Given the description of an element on the screen output the (x, y) to click on. 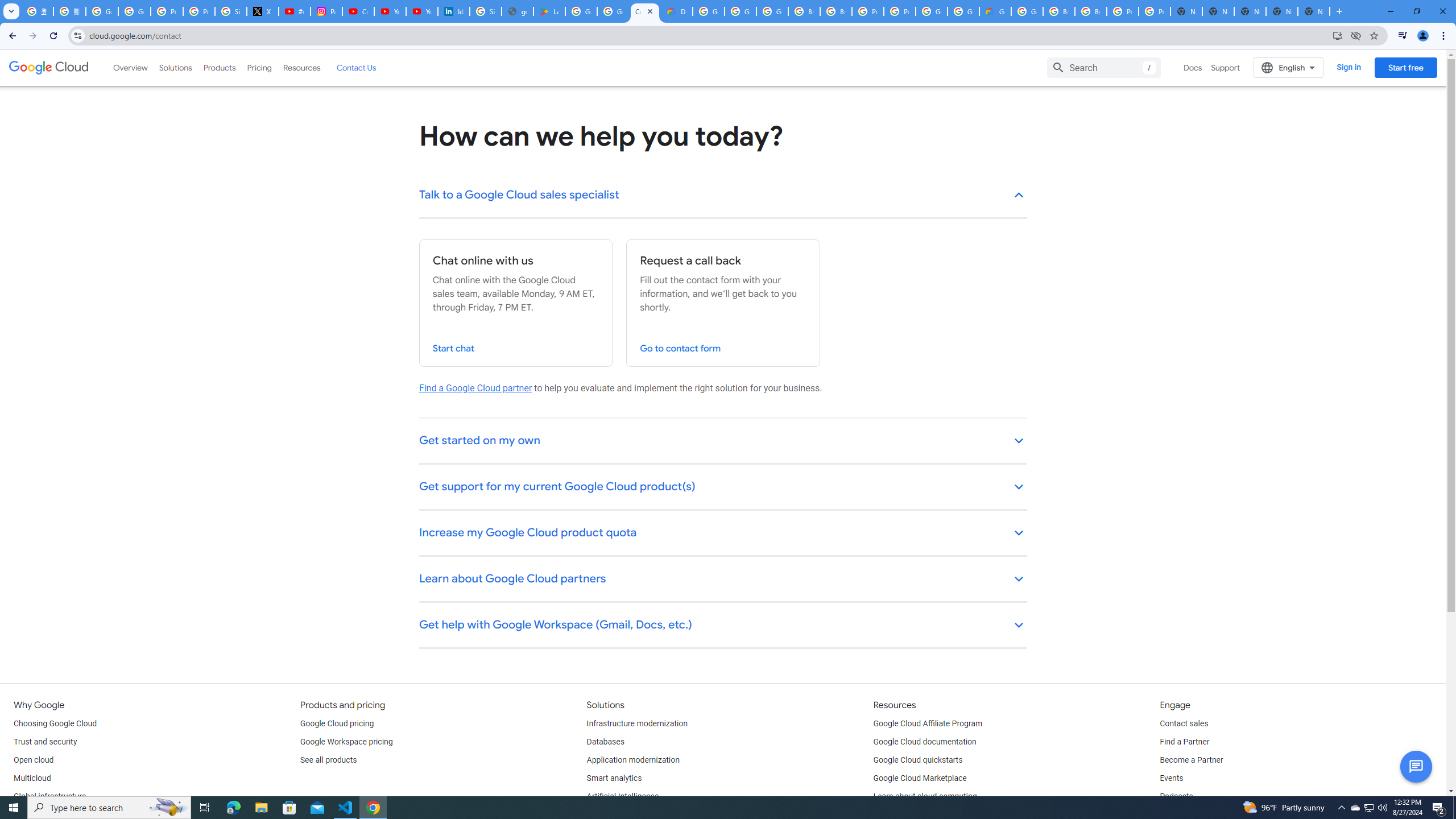
Get started on my own keyboard_arrow_down (723, 441)
Talk to a Google Cloud sales specialist keyboard_arrow_up (723, 195)
Back (10, 35)
Find a Partner (1183, 742)
Google Cloud Platform (1027, 11)
Learn about Google Cloud partners keyboard_arrow_down (723, 579)
Find a Google Cloud partner (475, 387)
Docs (1192, 67)
Start free (1405, 67)
Overview (130, 67)
Browse Chrome as a guest - Computer - Google Chrome Help (1091, 11)
Google Workspace - Specific Terms (613, 11)
